Given the description of an element on the screen output the (x, y) to click on. 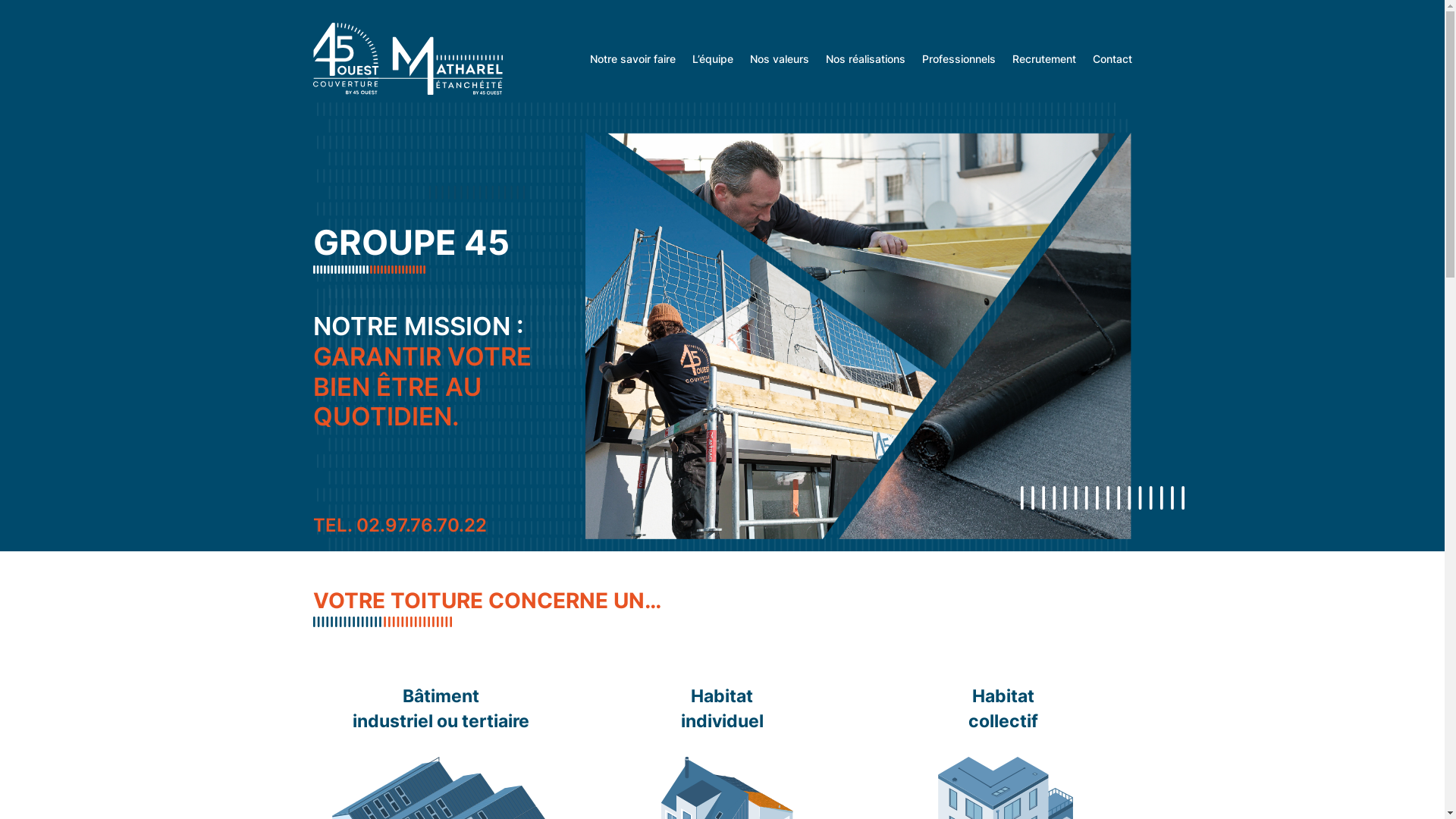
Contact Element type: text (1111, 58)
Recrutement Element type: text (1043, 58)
Notre savoir faire Element type: text (632, 58)
Professionnels Element type: text (958, 58)
TEL. 02.97.76.70.22 Element type: text (399, 525)
Nos valeurs Element type: text (778, 58)
Groupe 2641 Element type: hover (858, 335)
